Given the description of an element on the screen output the (x, y) to click on. 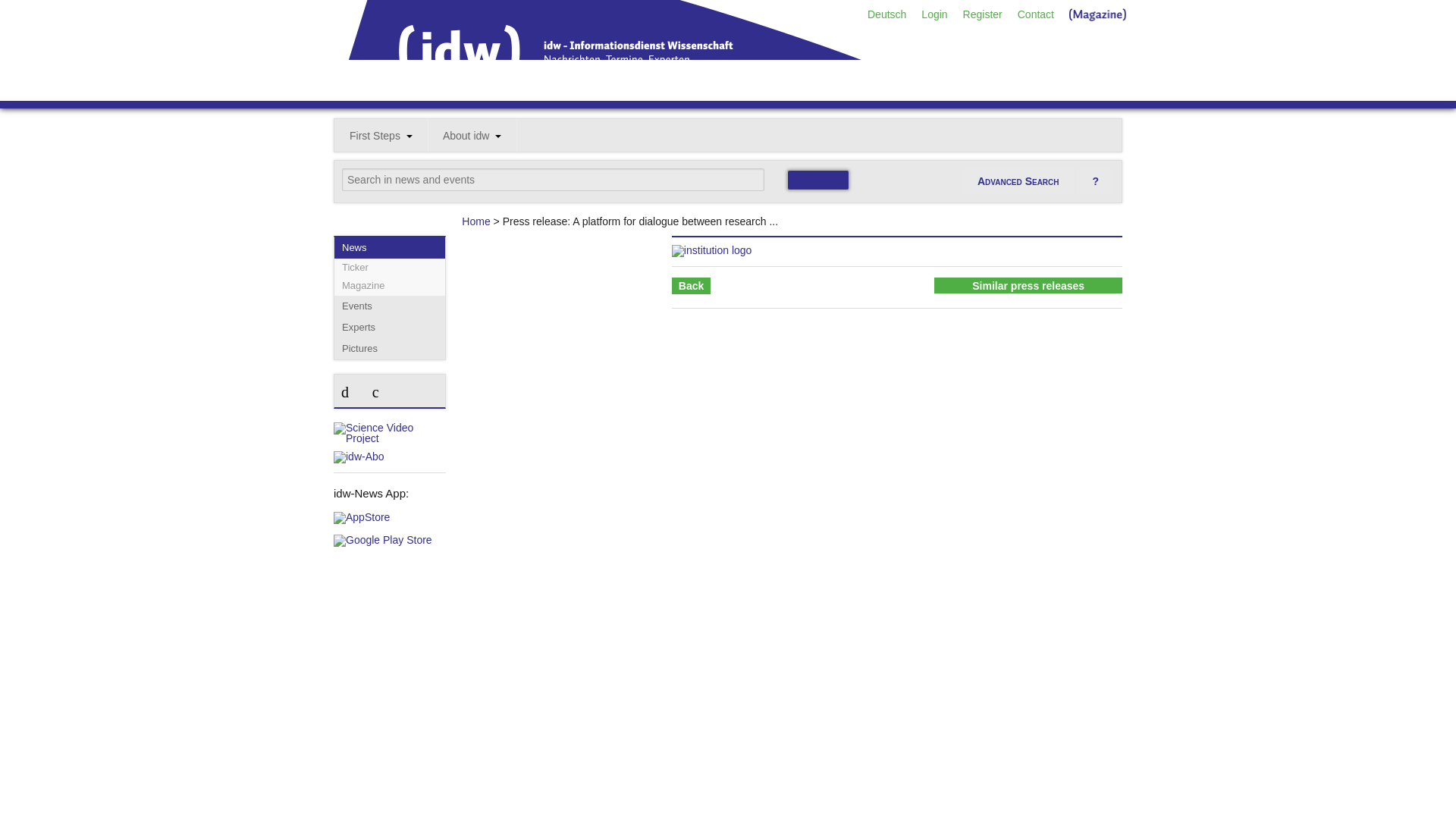
About idw (472, 135)
Pictures (389, 348)
Zur Startseite (649, 95)
? (1095, 181)
Events (389, 305)
Magazine (389, 285)
Home (475, 221)
Ticker (389, 267)
Advanced Search (1018, 181)
Register (982, 14)
